Given the description of an element on the screen output the (x, y) to click on. 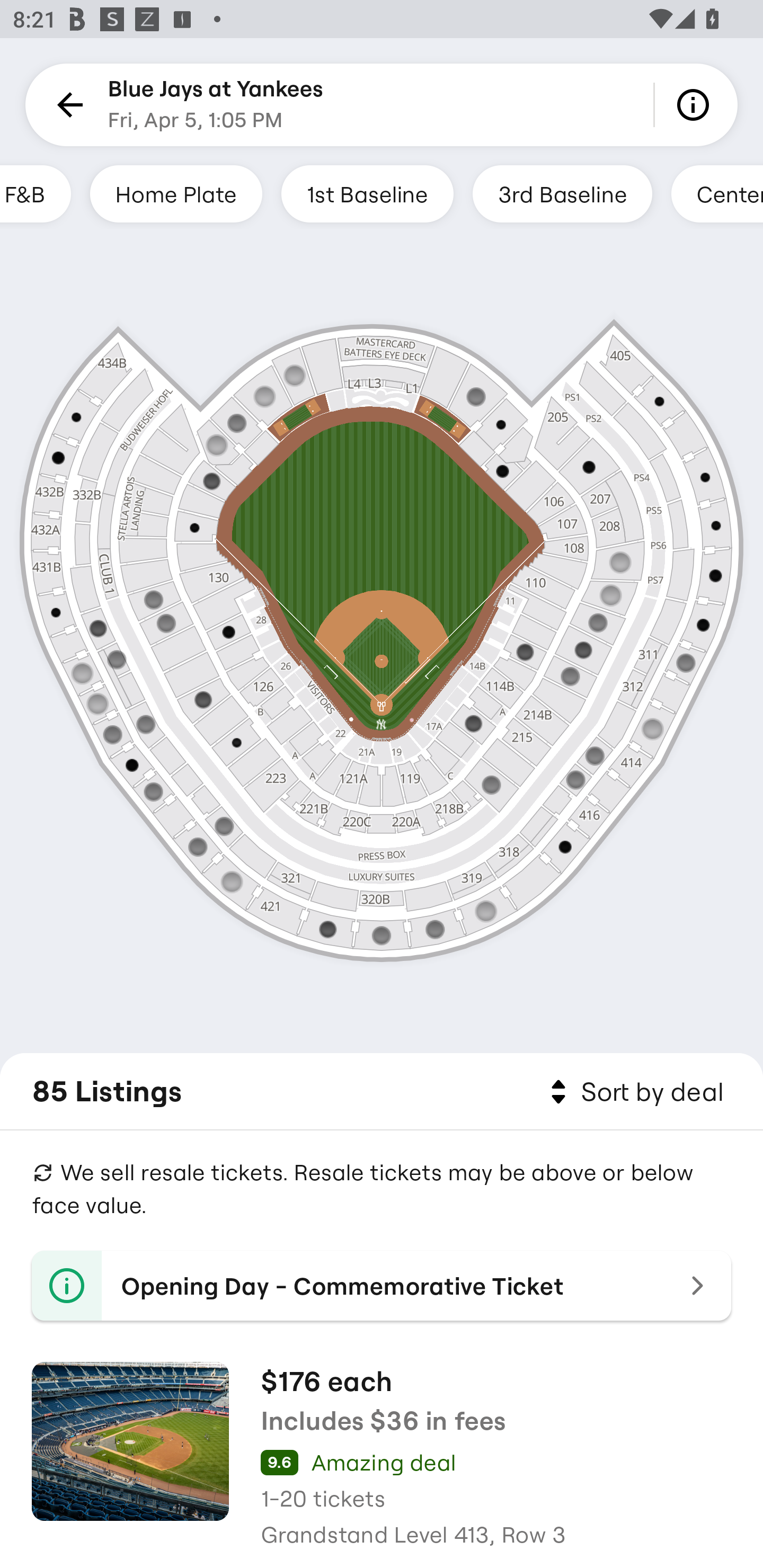
Back (66, 104)
Blue Jays at Yankees Fri, Apr 5, 1:05 PM (215, 104)
Info (695, 104)
Home Plate (176, 193)
1st Baseline (367, 193)
3rd Baseline (562, 193)
Sort by deal (633, 1091)
Opening Day - Commemorative Ticket (381, 1285)
